Given the description of an element on the screen output the (x, y) to click on. 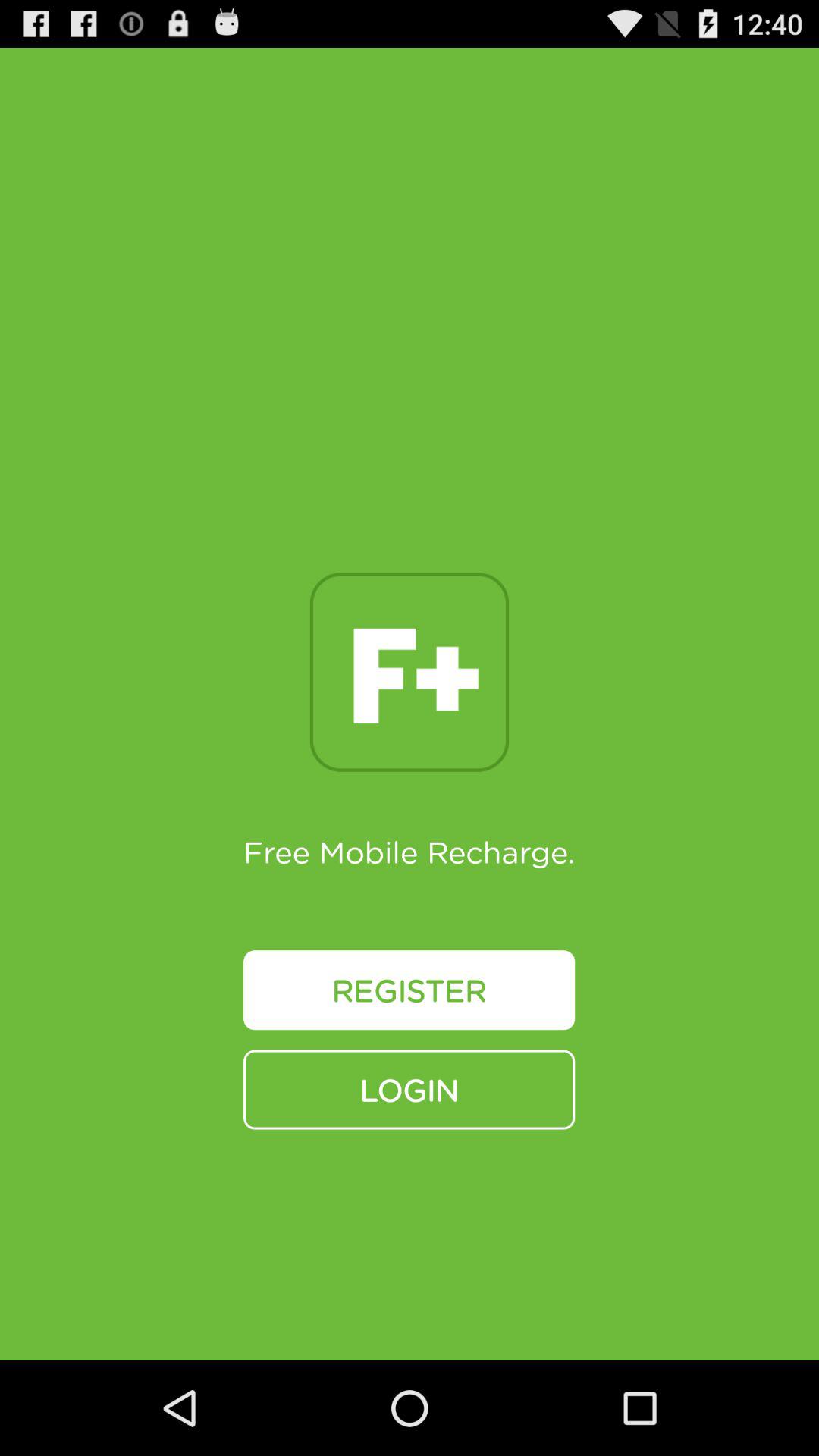
open the icon below free mobile recharge. icon (409, 990)
